Given the description of an element on the screen output the (x, y) to click on. 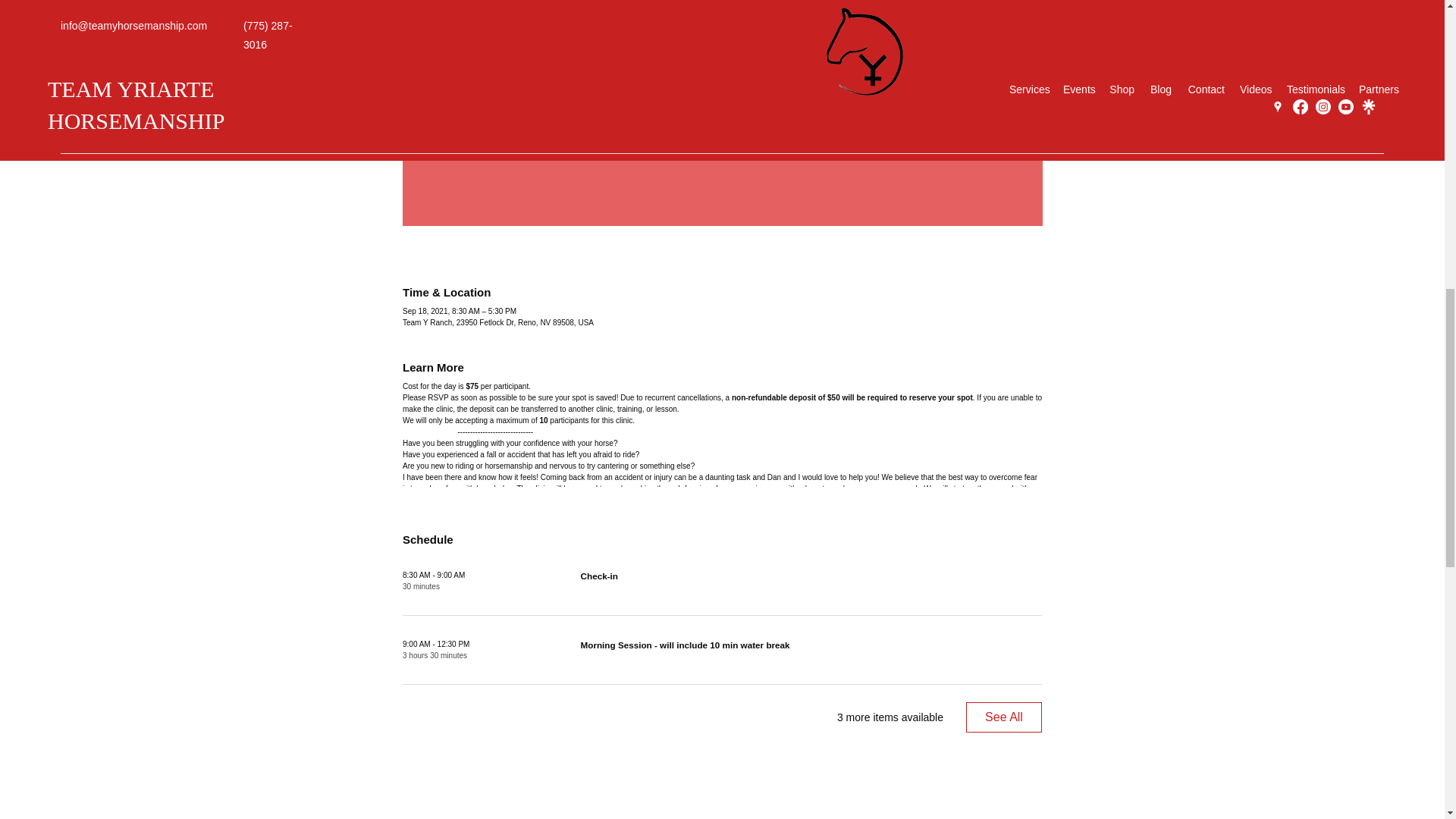
See All (1004, 716)
